Given the description of an element on the screen output the (x, y) to click on. 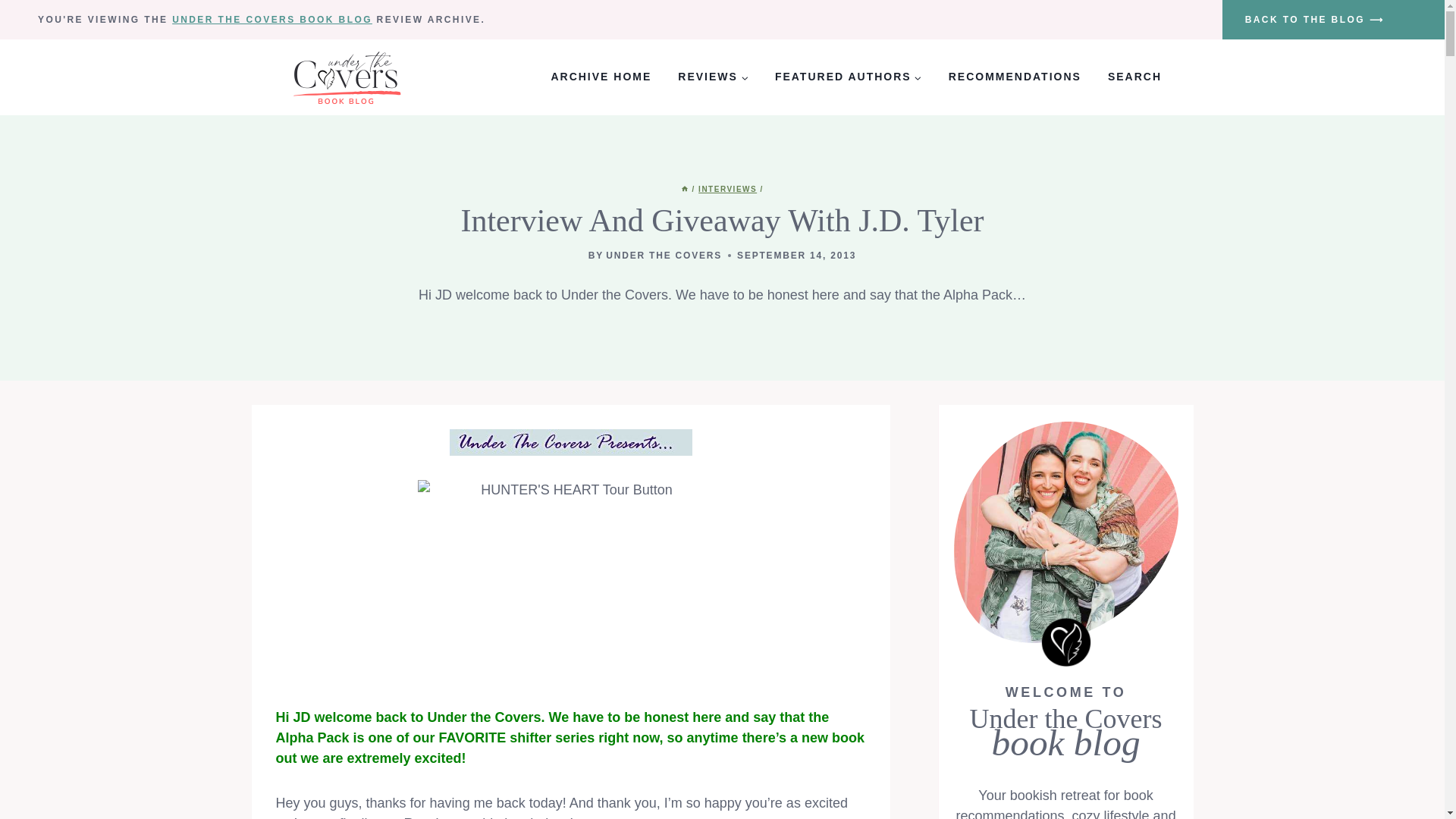
REVIEWS (713, 77)
INTERVIEWS (727, 189)
UNDER THE COVERS BOOK BLOG (271, 19)
FEATURED AUTHORS (847, 77)
ARCHIVE HOME (601, 77)
Home (684, 189)
SEARCH (1134, 77)
UNDER THE COVERS (663, 255)
RECOMMENDATIONS (1014, 77)
